Given the description of an element on the screen output the (x, y) to click on. 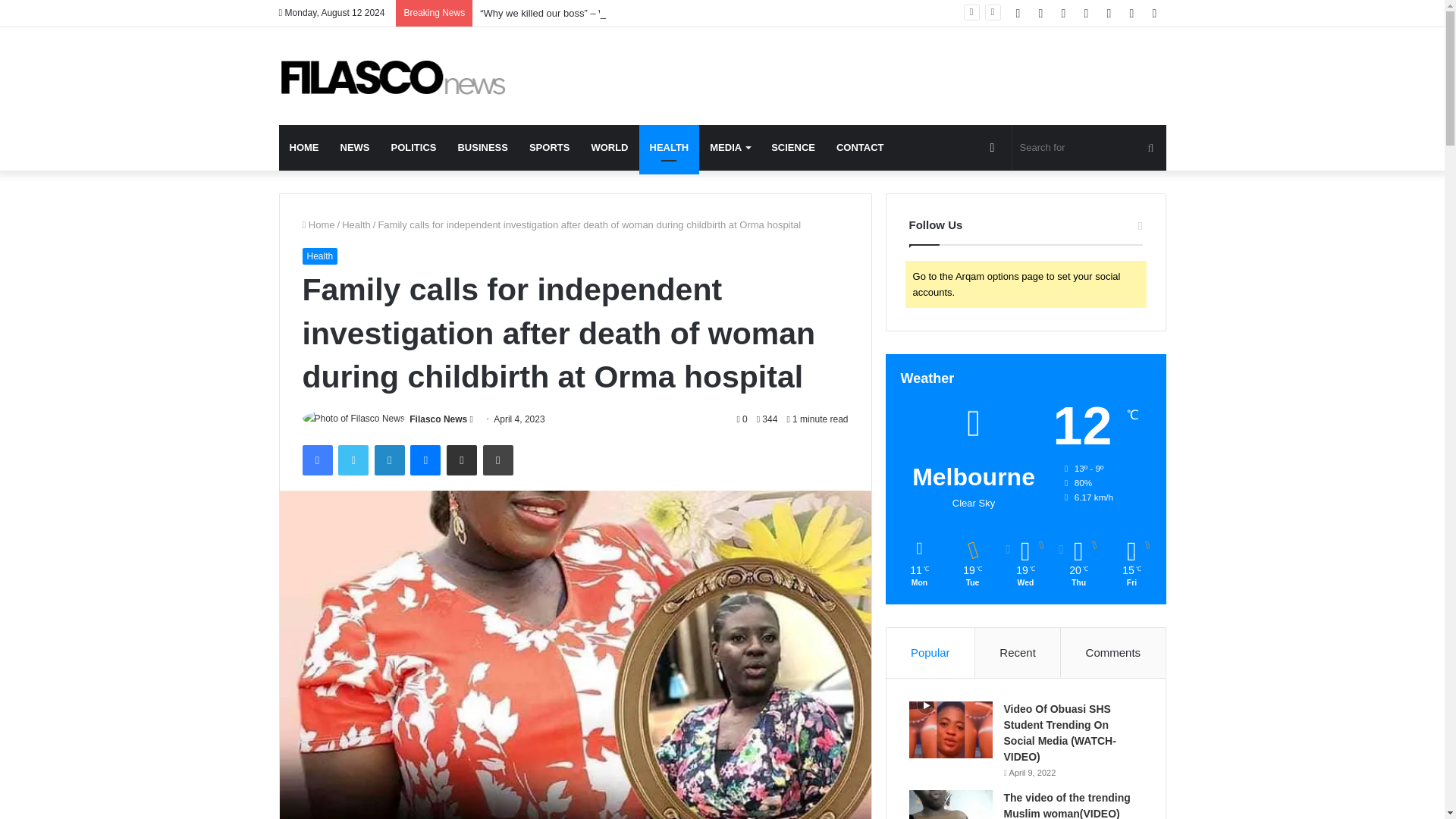
SPORTS (548, 147)
Messenger (425, 460)
WORLD (609, 147)
SCIENCE (792, 147)
Twitter (352, 460)
HOME (304, 147)
Health (319, 256)
Facebook (316, 460)
Twitter (352, 460)
LinkedIn (389, 460)
